Given the description of an element on the screen output the (x, y) to click on. 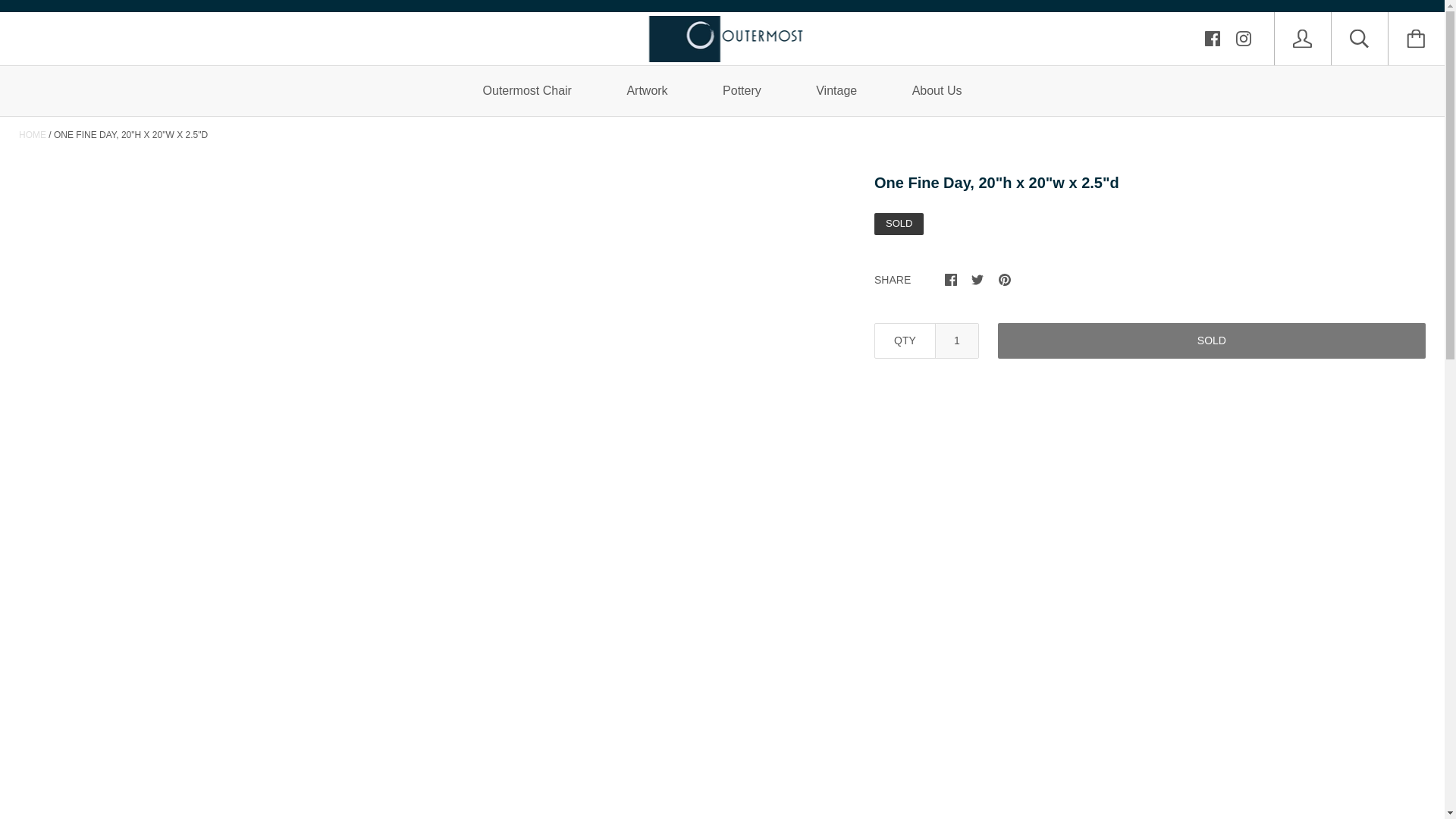
Pottery (742, 91)
SOLD (1211, 340)
Artwork (646, 91)
Vintage (836, 91)
Outermost Chair (526, 91)
1 (957, 340)
HOME (32, 134)
About Us (937, 91)
